Given the description of an element on the screen output the (x, y) to click on. 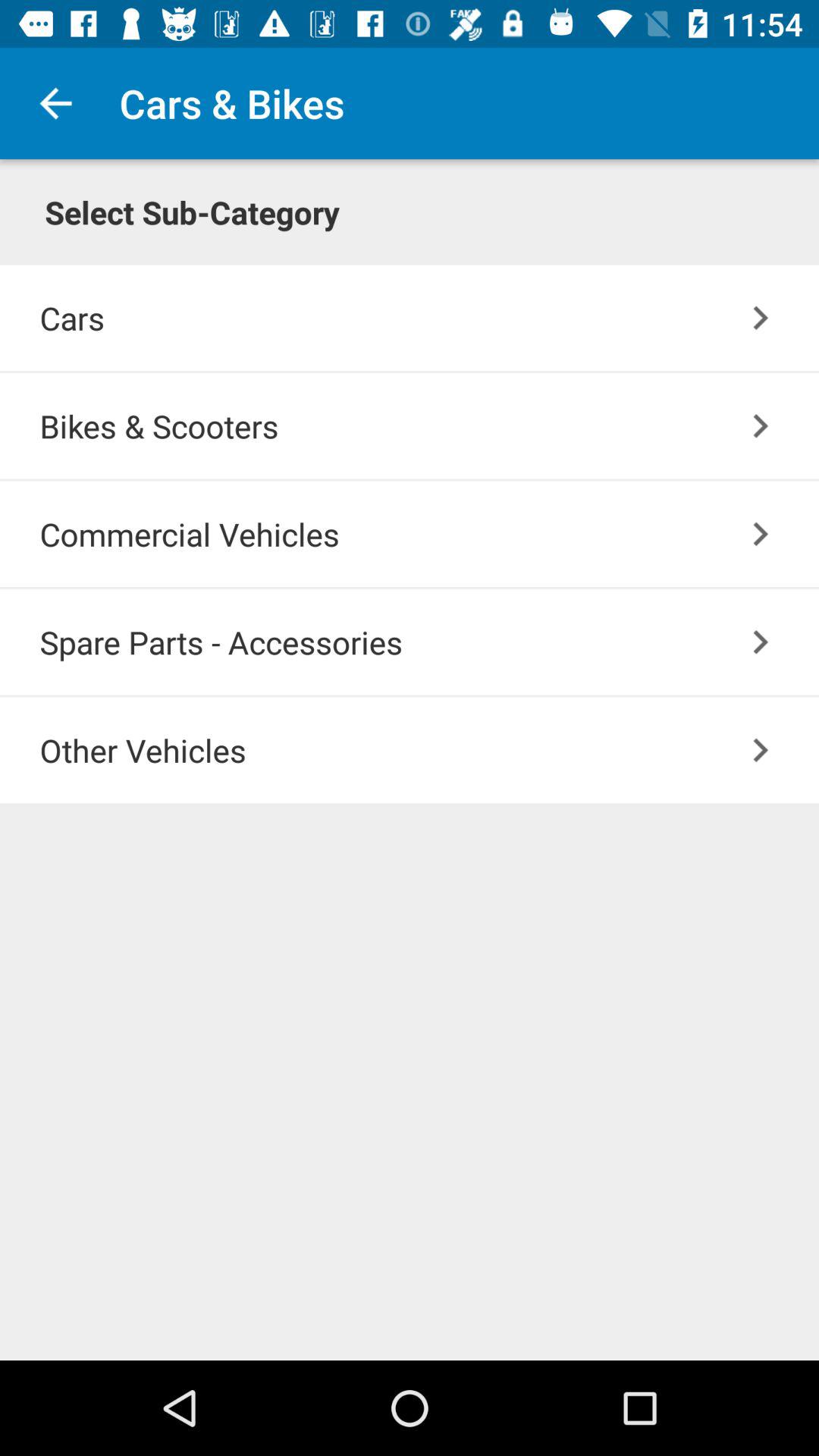
tap item below spare parts - accessories (429, 750)
